Given the description of an element on the screen output the (x, y) to click on. 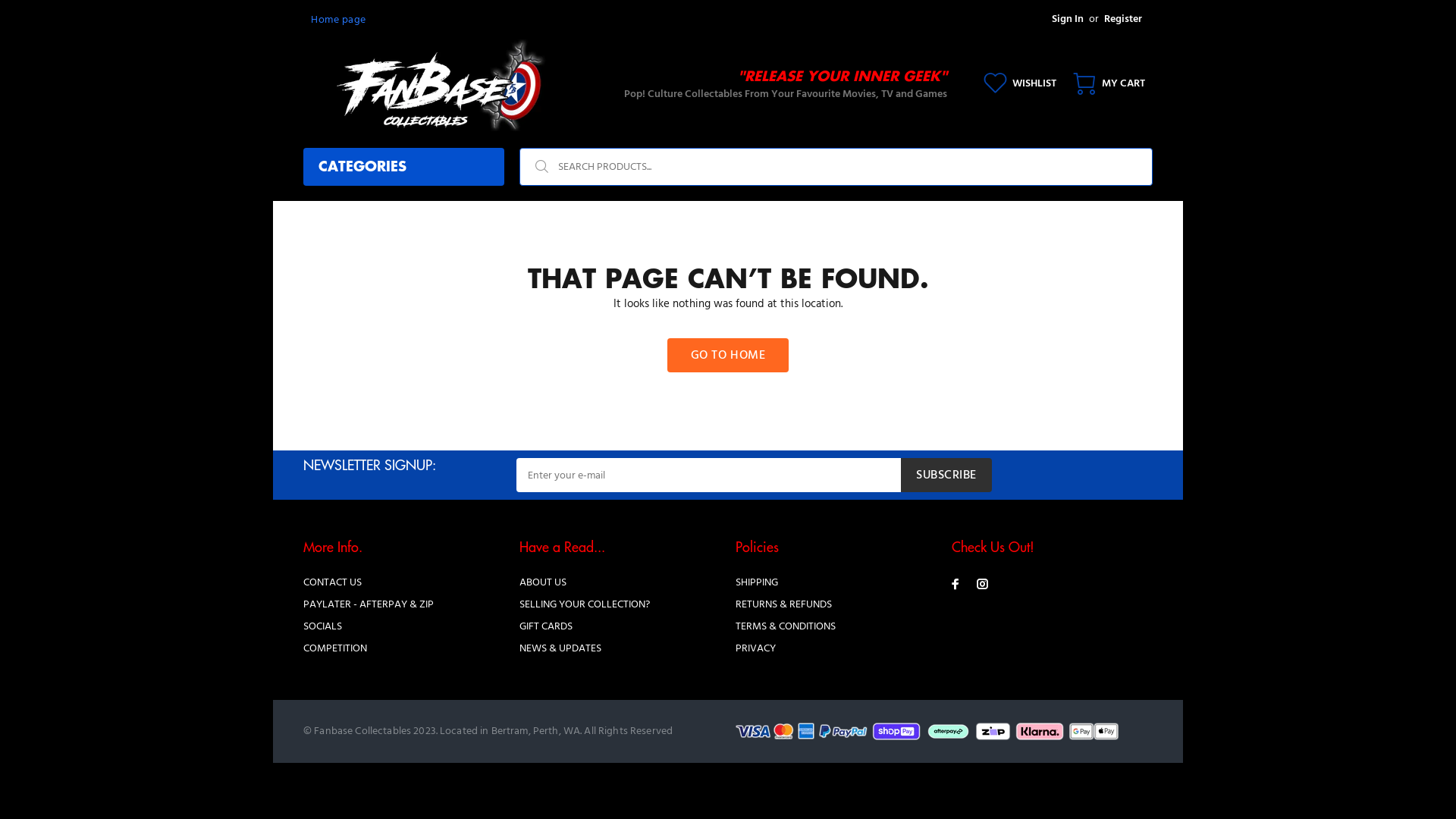
SUBSCRIBE Element type: text (945, 475)
Home page Element type: text (338, 19)
TERMS & CONDITIONS Element type: text (785, 626)
SHIPPING Element type: text (756, 582)
Sign In Element type: text (1067, 19)
CATEGORIES Element type: text (403, 166)
ABOUT US Element type: text (542, 582)
GO TO HOME Element type: text (728, 355)
RETURNS & REFUNDS Element type: text (783, 604)
SELLING YOUR COLLECTION? Element type: text (584, 604)
PRIVACY Element type: text (755, 648)
WISHLIST Element type: text (1019, 83)
MY CART Element type: text (1104, 83)
NEWS & UPDATES Element type: text (560, 648)
CONTACT US Element type: text (332, 582)
SOCIALS Element type: text (322, 626)
GIFT CARDS Element type: text (545, 626)
COMPETITION Element type: text (335, 648)
PAYLATER - AFTERPAY & ZIP Element type: text (368, 604)
Register Element type: text (1123, 19)
